Given the description of an element on the screen output the (x, y) to click on. 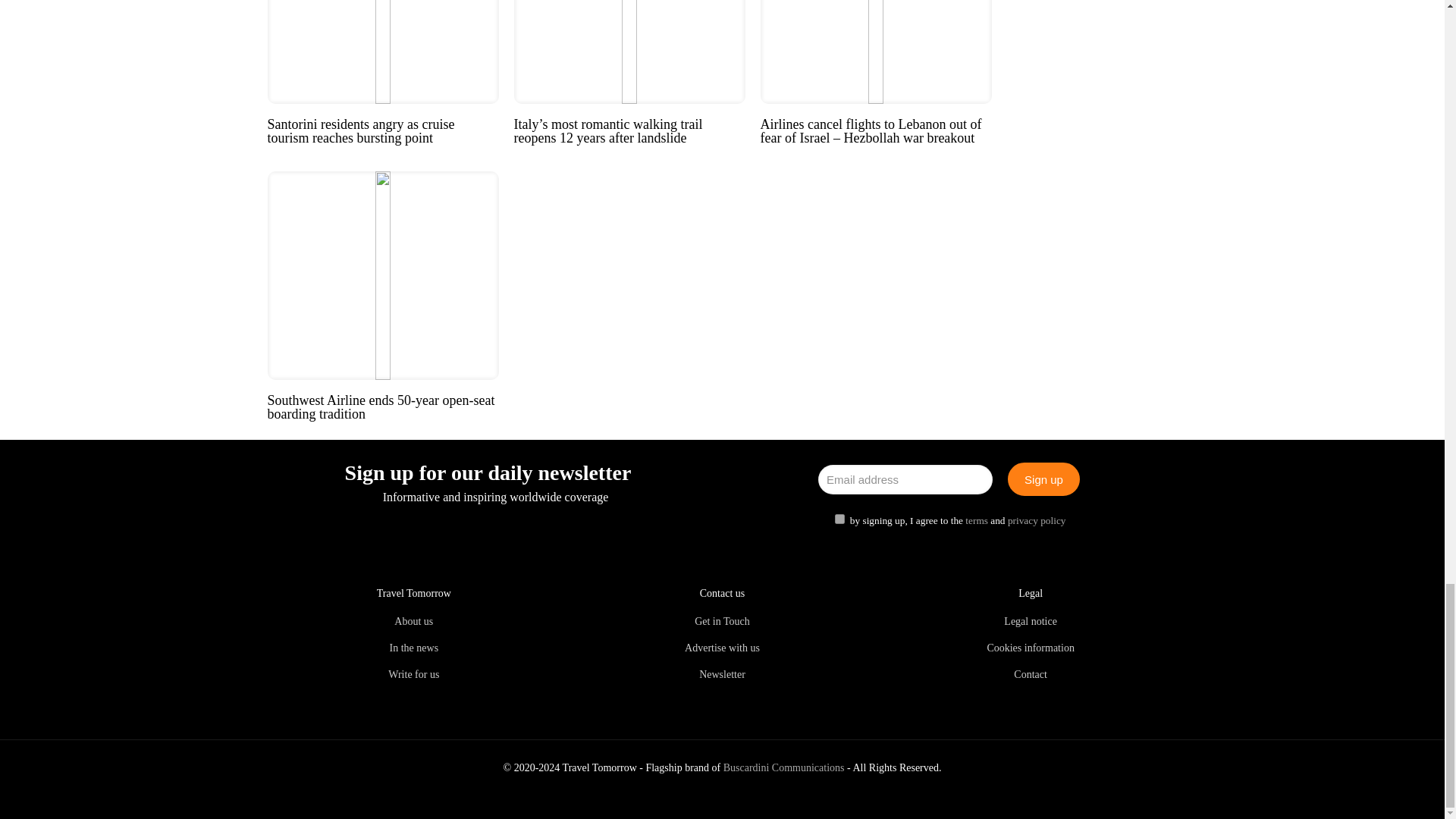
1 (839, 519)
Sign up (1043, 479)
